Given the description of an element on the screen output the (x, y) to click on. 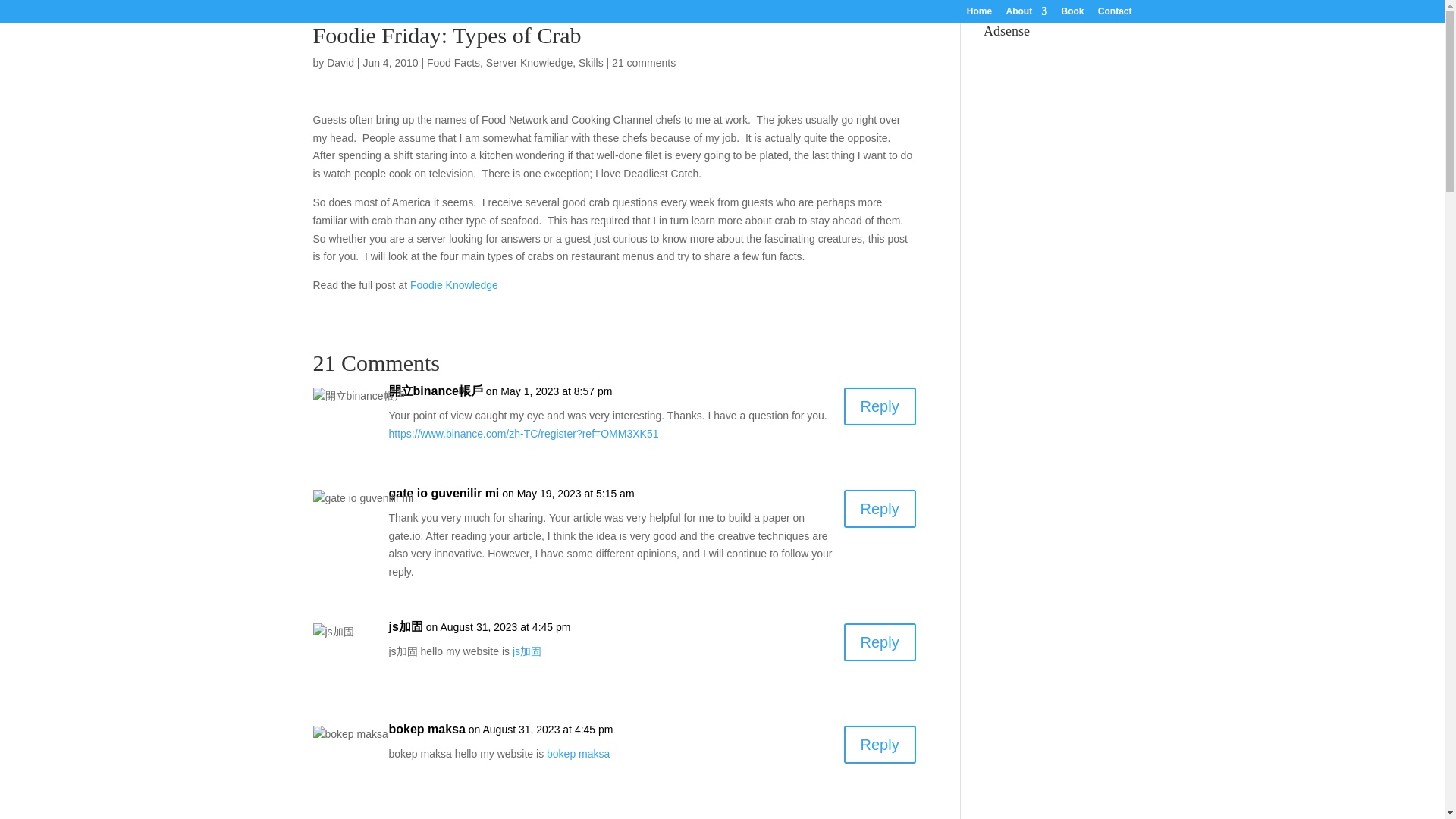
Contact (1114, 14)
About (1026, 14)
Home (978, 14)
Book (1072, 14)
Posts by David (339, 62)
